Given the description of an element on the screen output the (x, y) to click on. 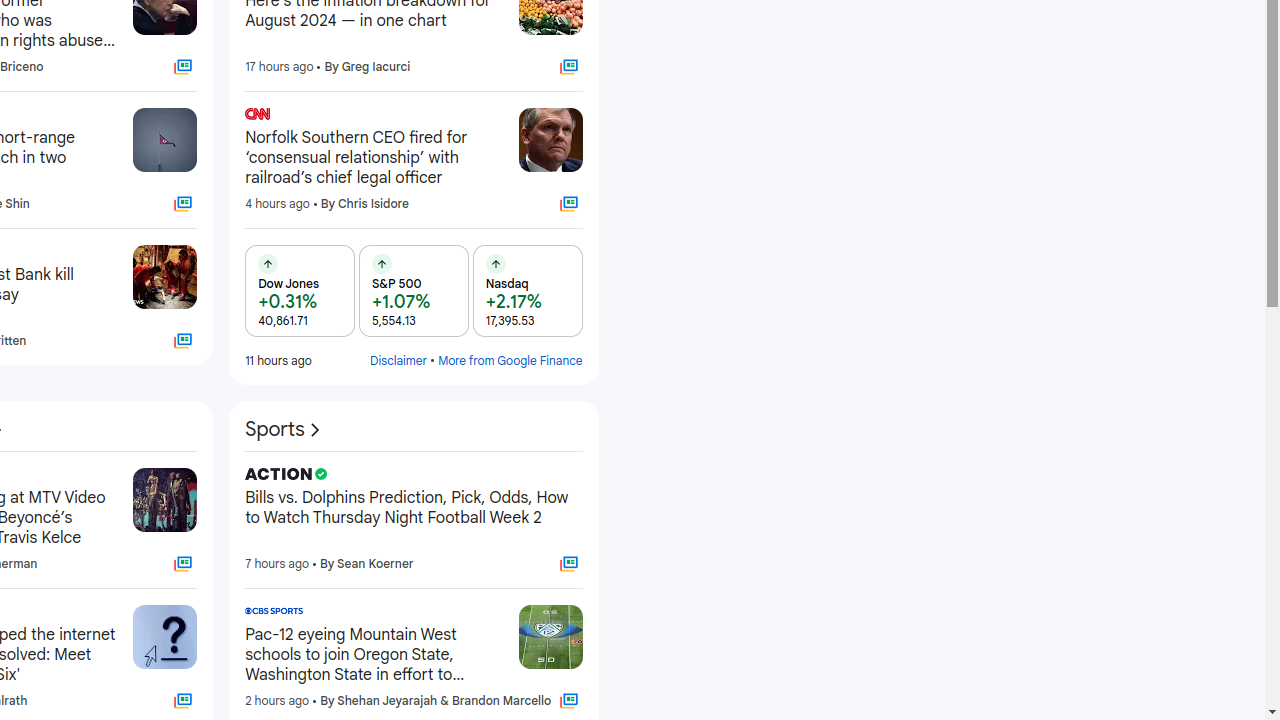
More - A mystery that gripped the internet for years has been solved: Meet 'Celebrity Number Six' Element type: push-button (111, 614)
Dow Jones +0.31% 40,861.71 Element type: link (300, 291)
Nasdaq +2.17% 17,395.53 Element type: link (527, 291)
More - Bills vs. Dolphins Prediction, Pick, Odds, How to Watch Thursday Night Football Week 2 Element type: push-button (576, 477)
Full Coverage Element type: link (568, 701)
